Given the description of an element on the screen output the (x, y) to click on. 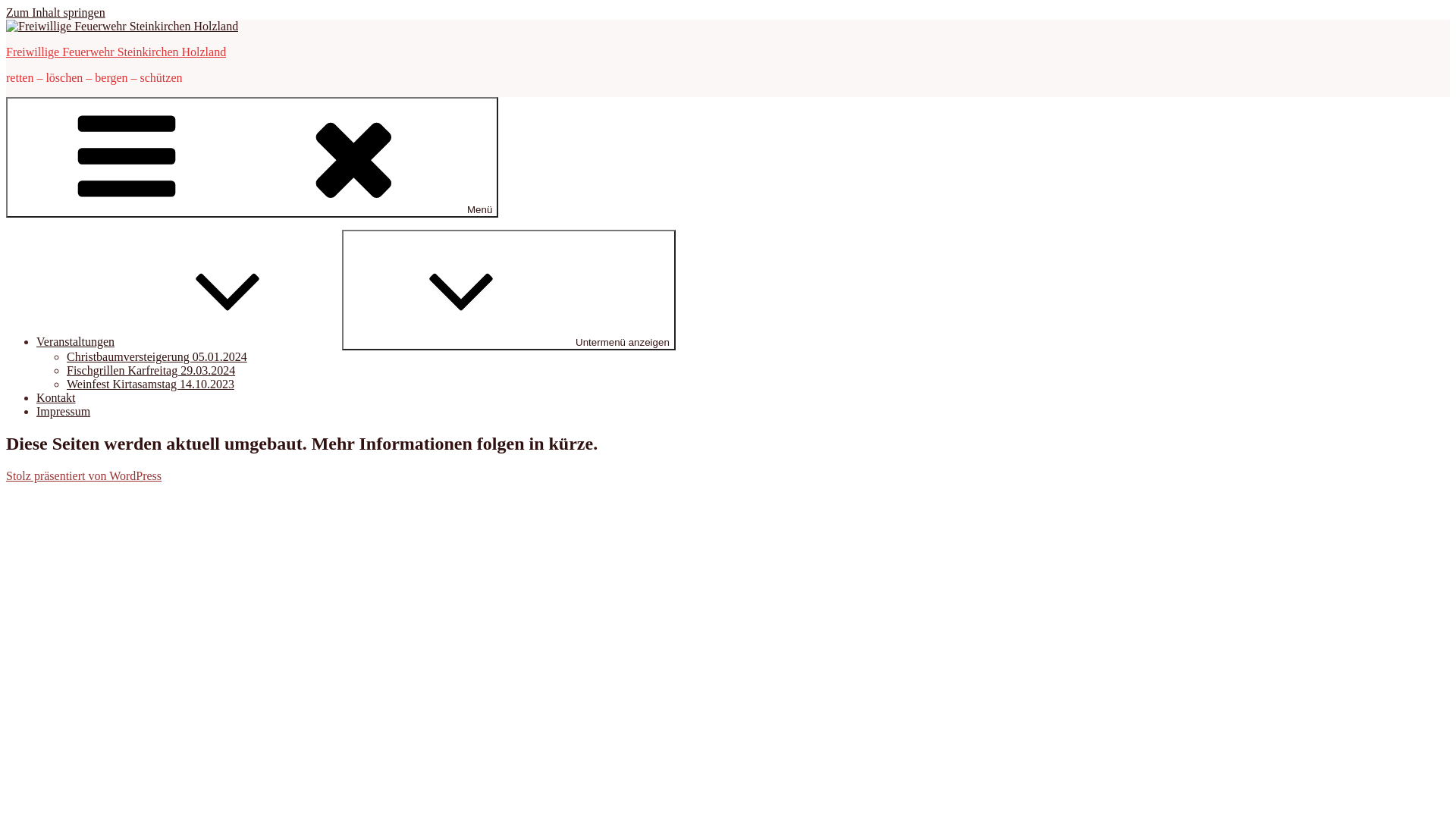
Zum Inhalt springen Element type: text (55, 12)
Freiwillige Feuerwehr Steinkirchen Holzland Element type: text (115, 51)
Christbaumversteigerung 05.01.2024 Element type: text (156, 356)
Kontakt Element type: text (55, 397)
Veranstaltungen Element type: text (189, 341)
Impressum Element type: text (63, 410)
Weinfest Kirtasamstag 14.10.2023 Element type: text (150, 383)
Fischgrillen Karfreitag 29.03.2024 Element type: text (150, 370)
